Given the description of an element on the screen output the (x, y) to click on. 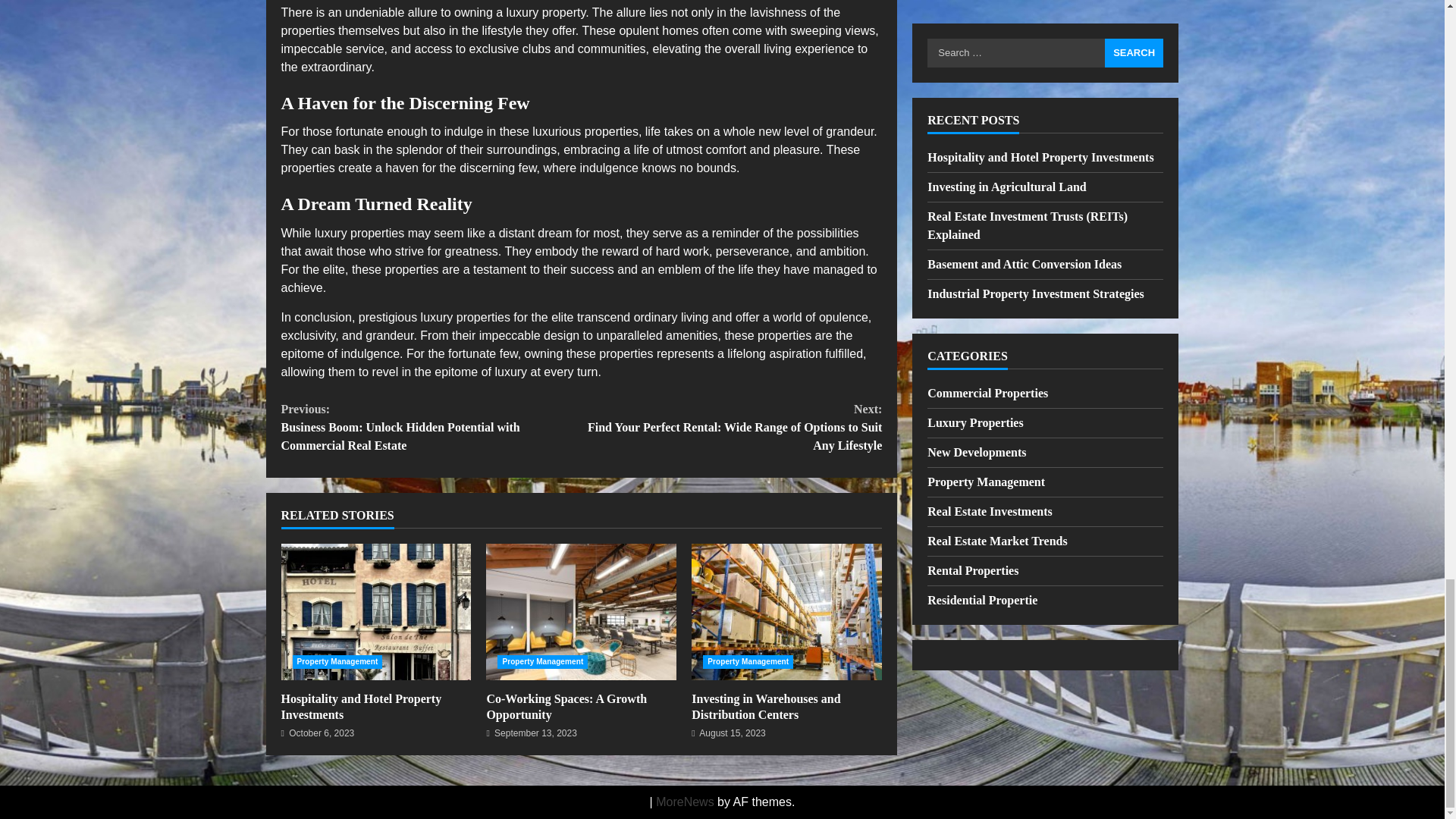
Property Management (337, 662)
Hospitality and Hotel Property Investments (361, 706)
Hospitality and Hotel Property Investments (375, 611)
Investing in Warehouses and Distribution Centers (786, 611)
Property Management (542, 662)
Co-Working Spaces: A Growth Opportunity (566, 706)
Co-Working Spaces: A Growth Opportunity (581, 611)
Property Management (748, 662)
Investing in Warehouses and Distribution Centers (765, 706)
